Given the description of an element on the screen output the (x, y) to click on. 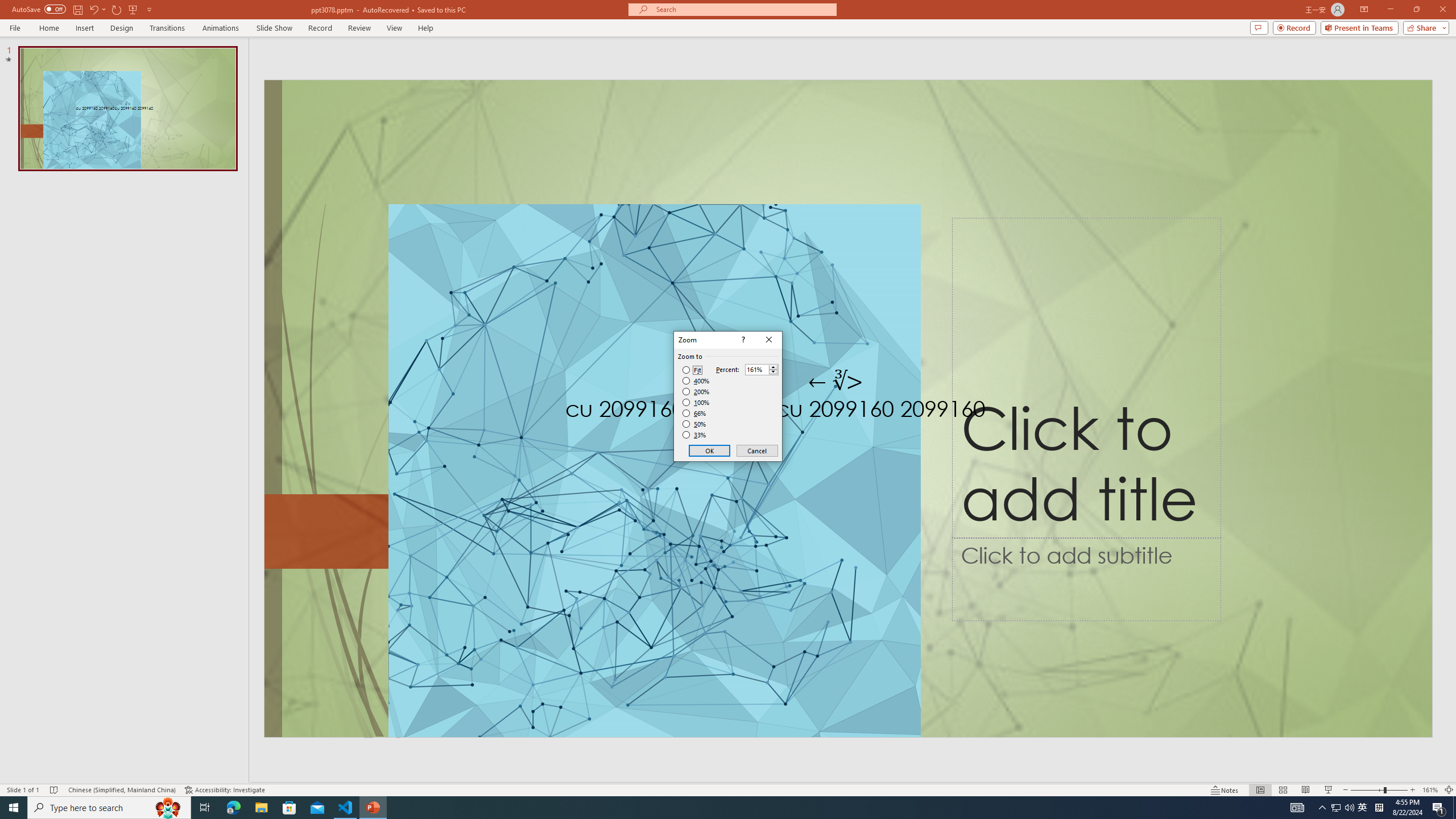
Percent (761, 369)
100% (696, 402)
33% (694, 434)
